Given the description of an element on the screen output the (x, y) to click on. 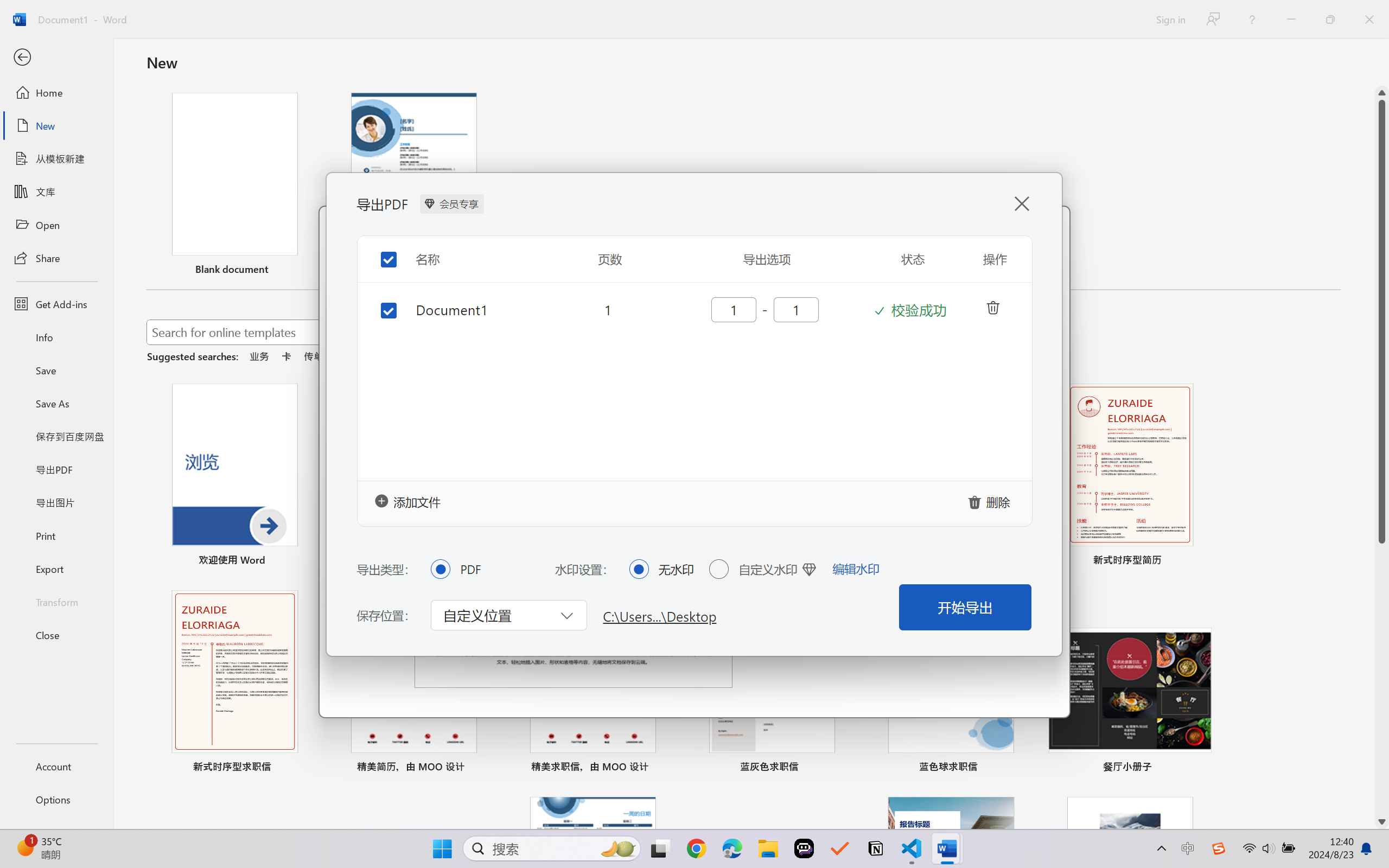
select row (380, 301)
Page down (1382, 679)
Export (56, 568)
PDF (440, 568)
Account (56, 765)
